Given the description of an element on the screen output the (x, y) to click on. 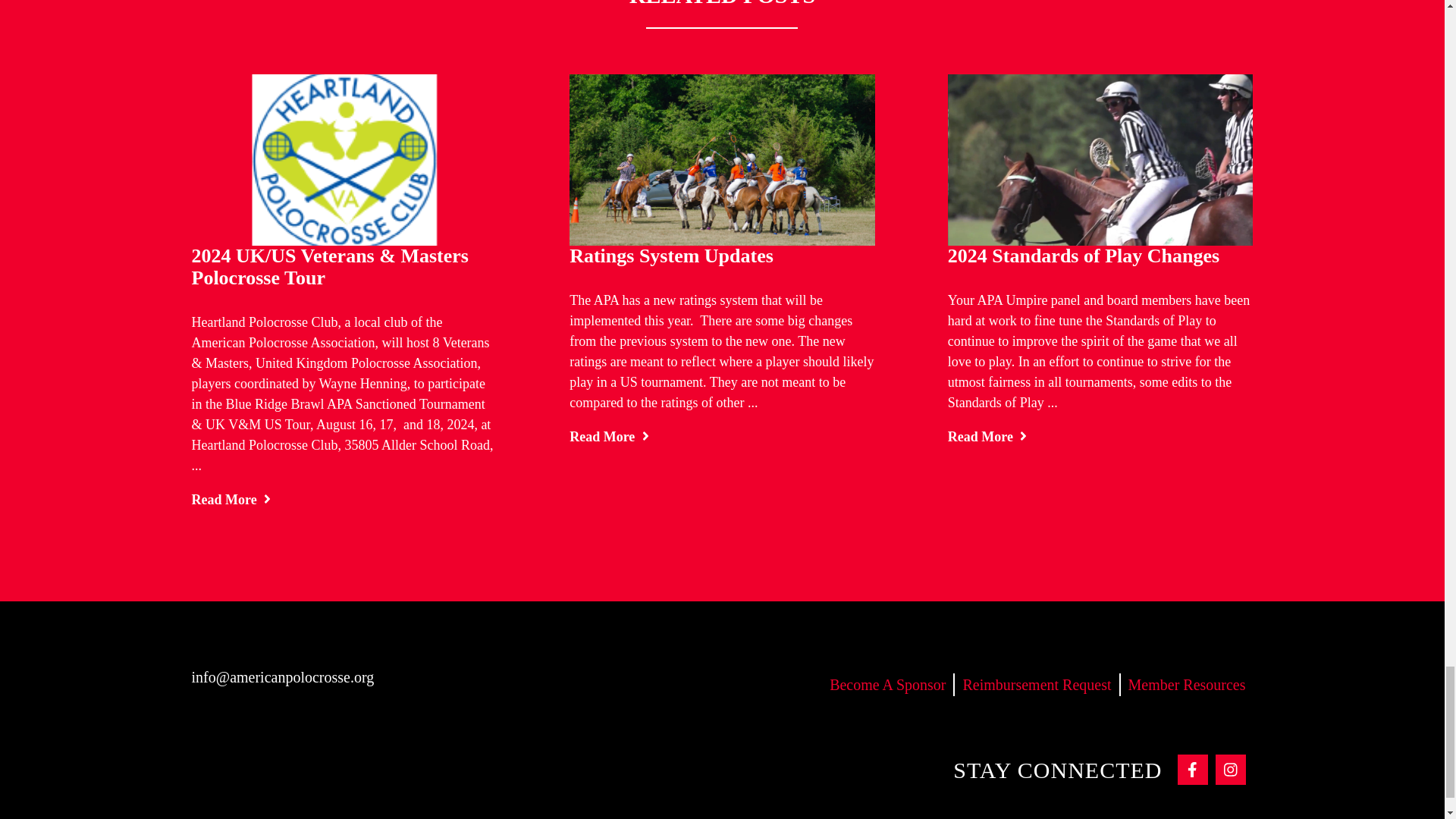
Read More (230, 498)
Ratings System Updates (671, 255)
Read More (609, 436)
